Given the description of an element on the screen output the (x, y) to click on. 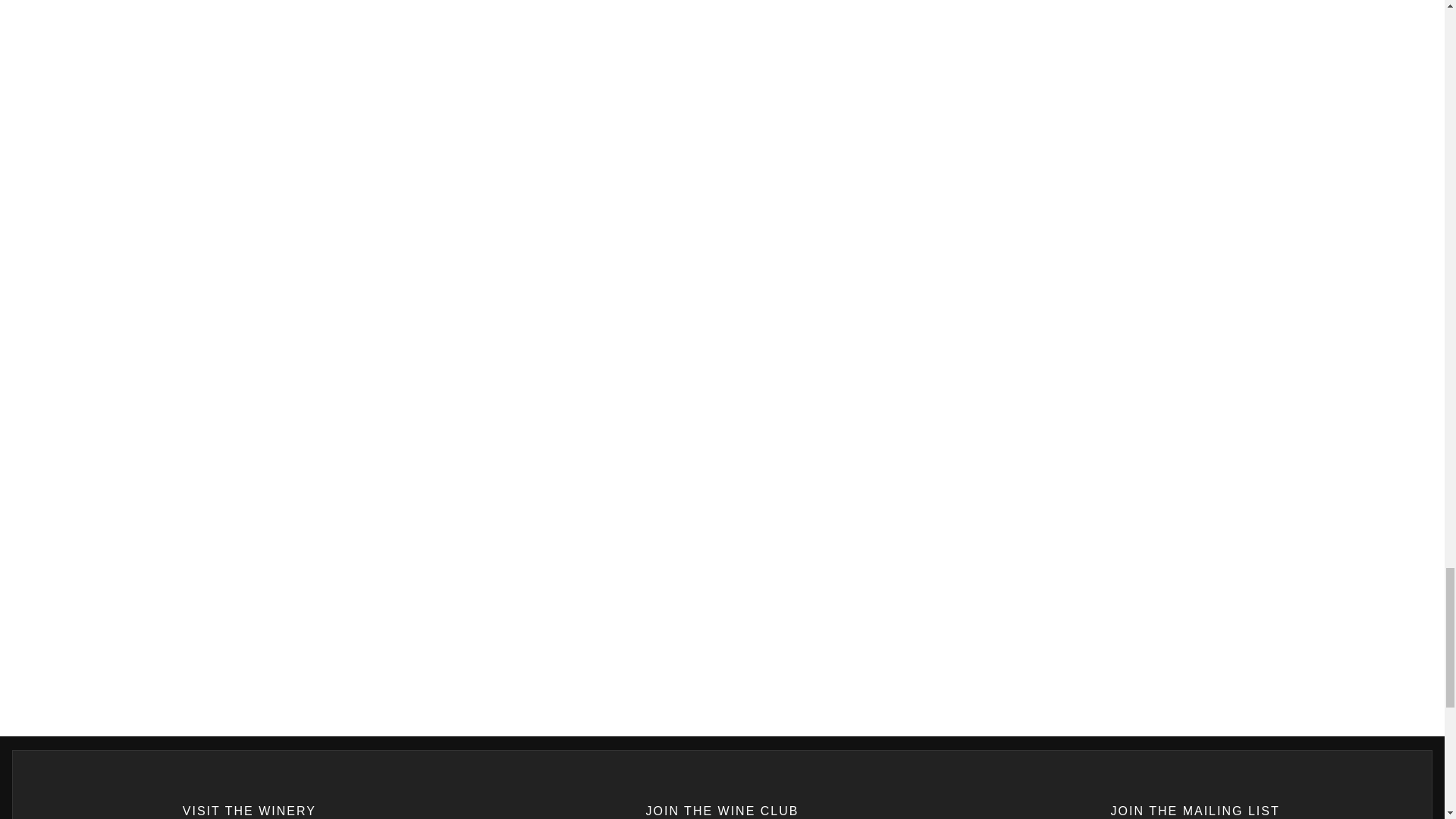
JOIN THE WINE CLUB (722, 785)
JOIN THE MAILING LIST (1194, 785)
VISIT THE WINERY (249, 785)
